Given the description of an element on the screen output the (x, y) to click on. 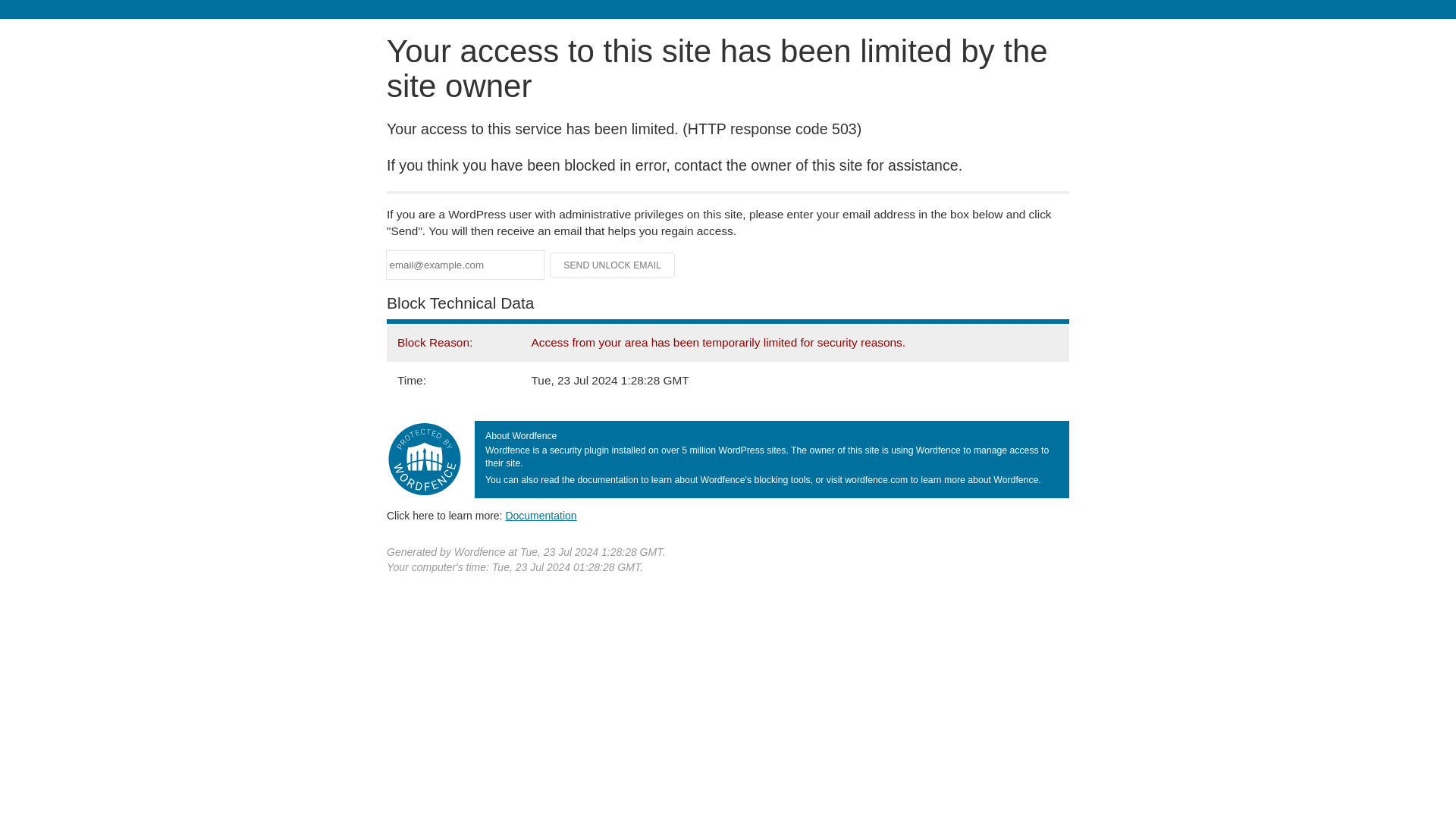
Send Unlock Email (612, 265)
Send Unlock Email (612, 265)
Documentation (540, 515)
